Given the description of an element on the screen output the (x, y) to click on. 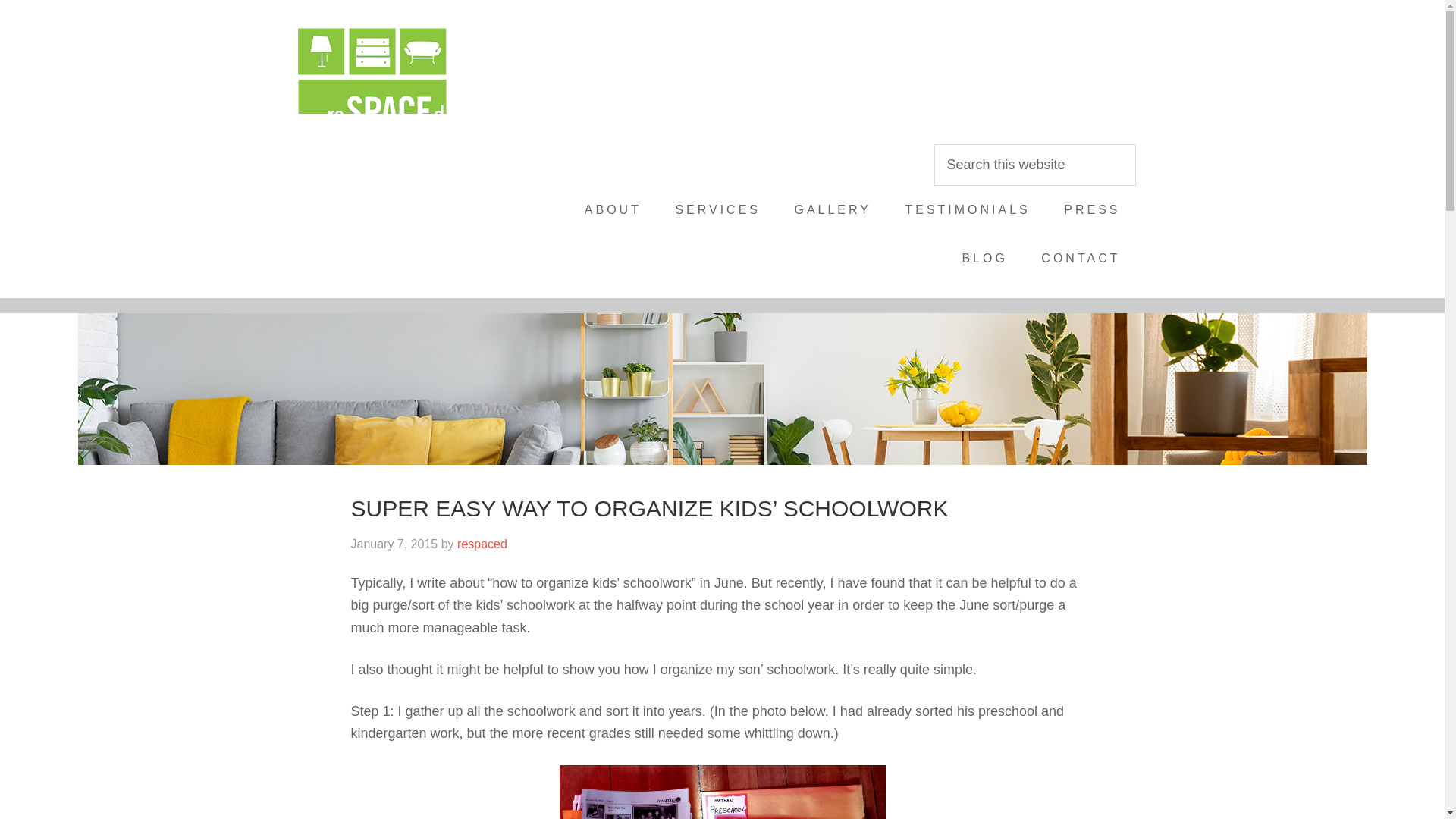
GALLERY (832, 209)
ABOUT (612, 209)
PRESS (1091, 209)
BLOG (984, 258)
respaced (481, 543)
TESTIMONIALS (967, 209)
CONTACT (1080, 258)
SERVICES (717, 209)
ReSPACED Portland (410, 67)
